Given the description of an element on the screen output the (x, y) to click on. 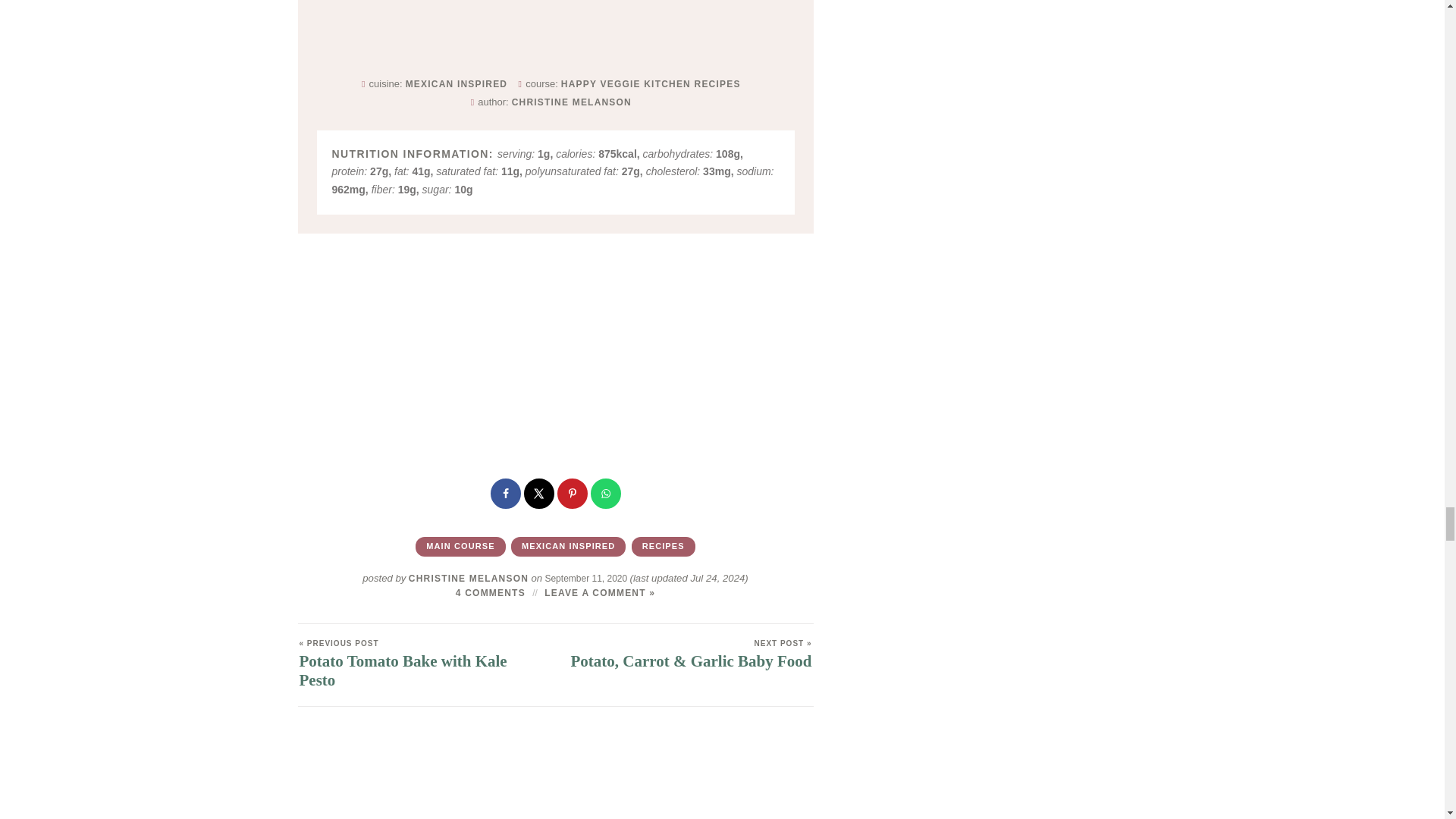
Share on X (537, 493)
Share on WhatsApp (604, 493)
Save to Pinterest (571, 493)
Share on Facebook (504, 493)
